Given the description of an element on the screen output the (x, y) to click on. 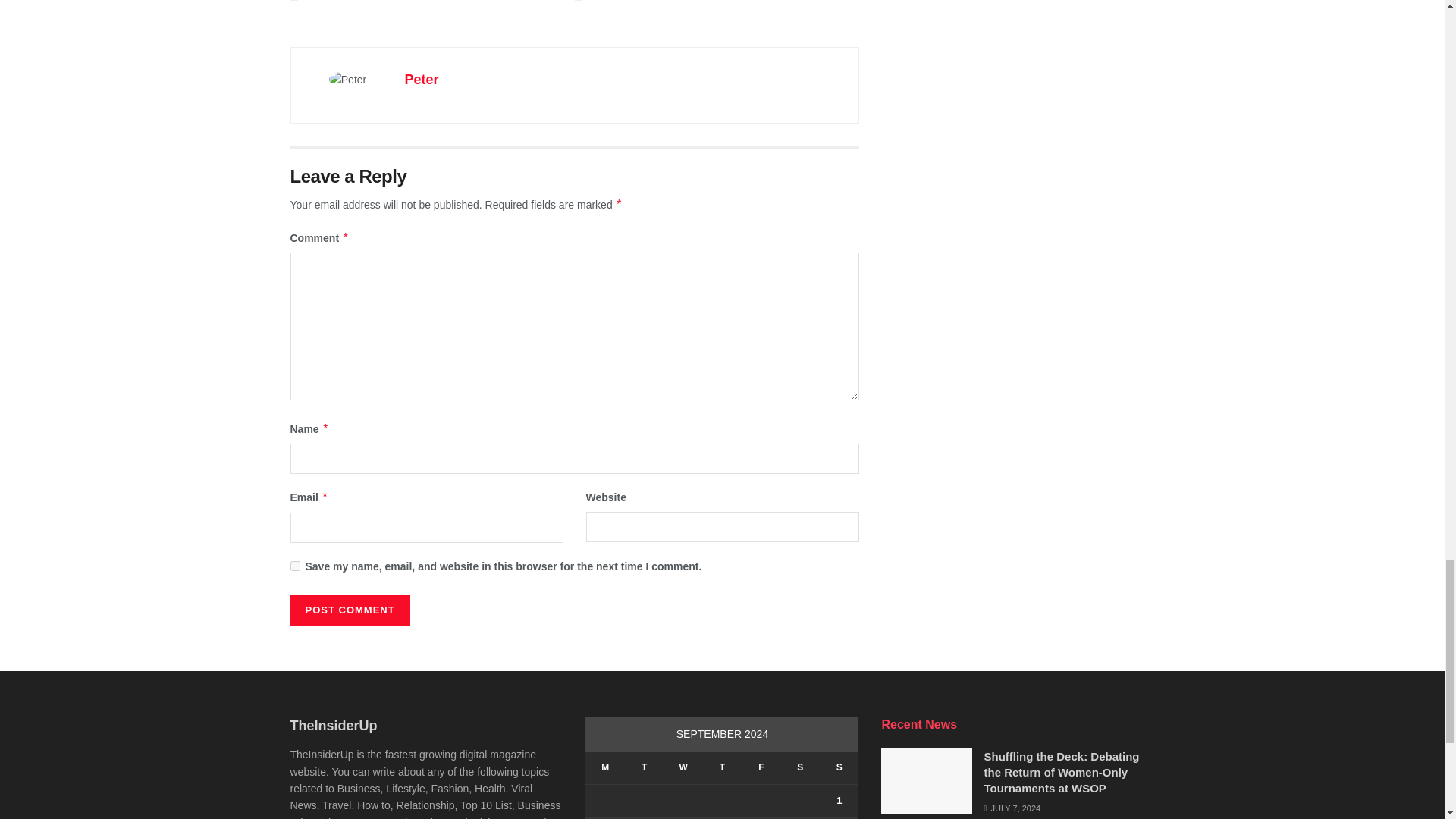
Tuesday (643, 767)
Sunday (839, 767)
yes (294, 565)
Monday (604, 767)
Friday (760, 767)
Wednesday (682, 767)
Saturday (799, 767)
Thursday (722, 767)
Post Comment (349, 610)
